Given the description of an element on the screen output the (x, y) to click on. 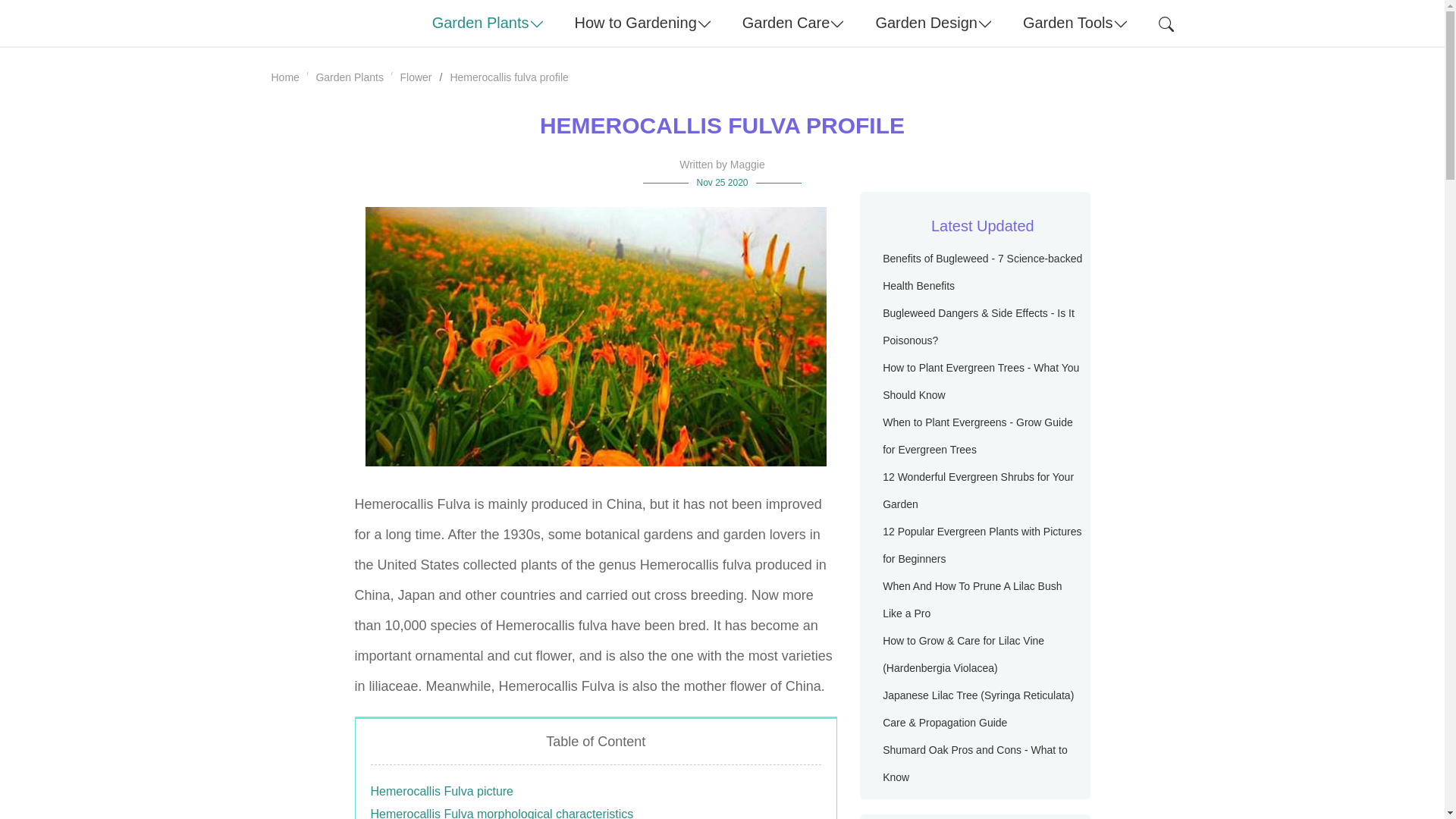
Garden Plants (487, 23)
Garden Design (933, 23)
How to Gardening (642, 23)
Garden Care (793, 23)
